Given the description of an element on the screen output the (x, y) to click on. 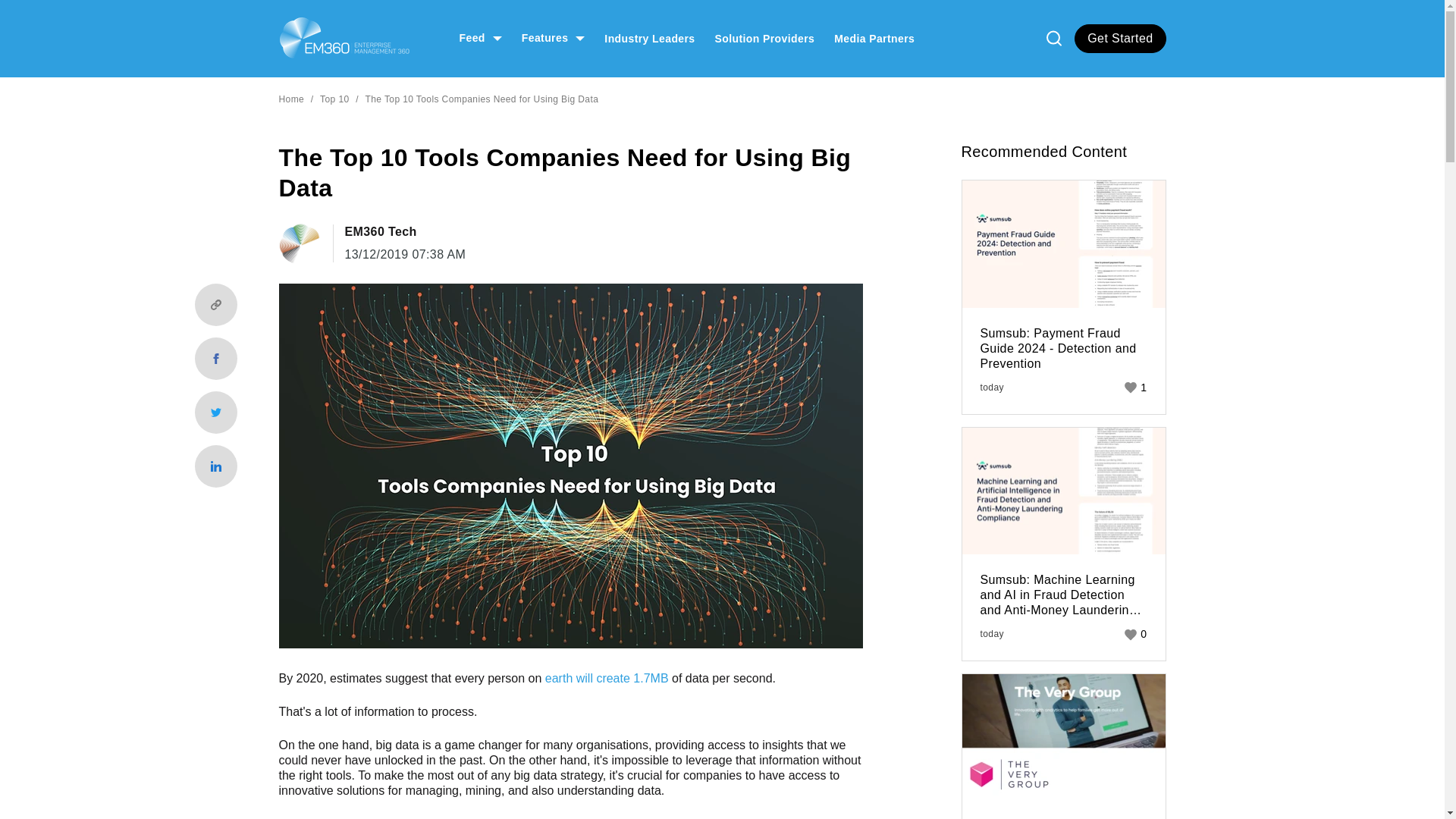
Solution Providers (764, 37)
Industry Leaders (649, 37)
Get Started (1120, 38)
Media Partners (874, 37)
Home (344, 38)
EM360 Tech (404, 231)
earth will create 1.7MB (606, 677)
Home (291, 99)
